Given the description of an element on the screen output the (x, y) to click on. 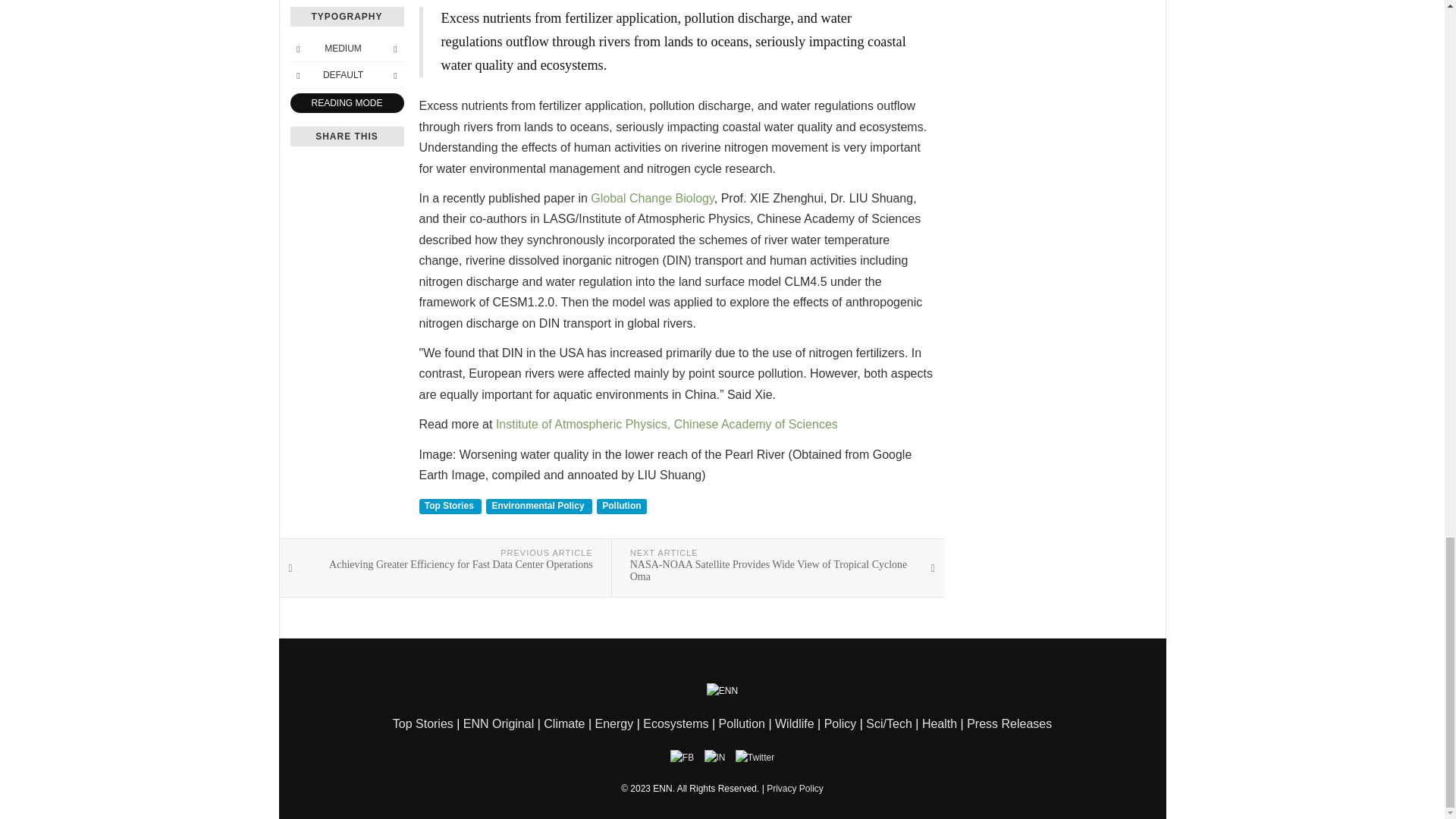
Previous Font Style (297, 74)
Next Font Style (395, 74)
Smaller Font (297, 48)
Reading Mode (346, 103)
Bigger Font (395, 48)
